Given the description of an element on the screen output the (x, y) to click on. 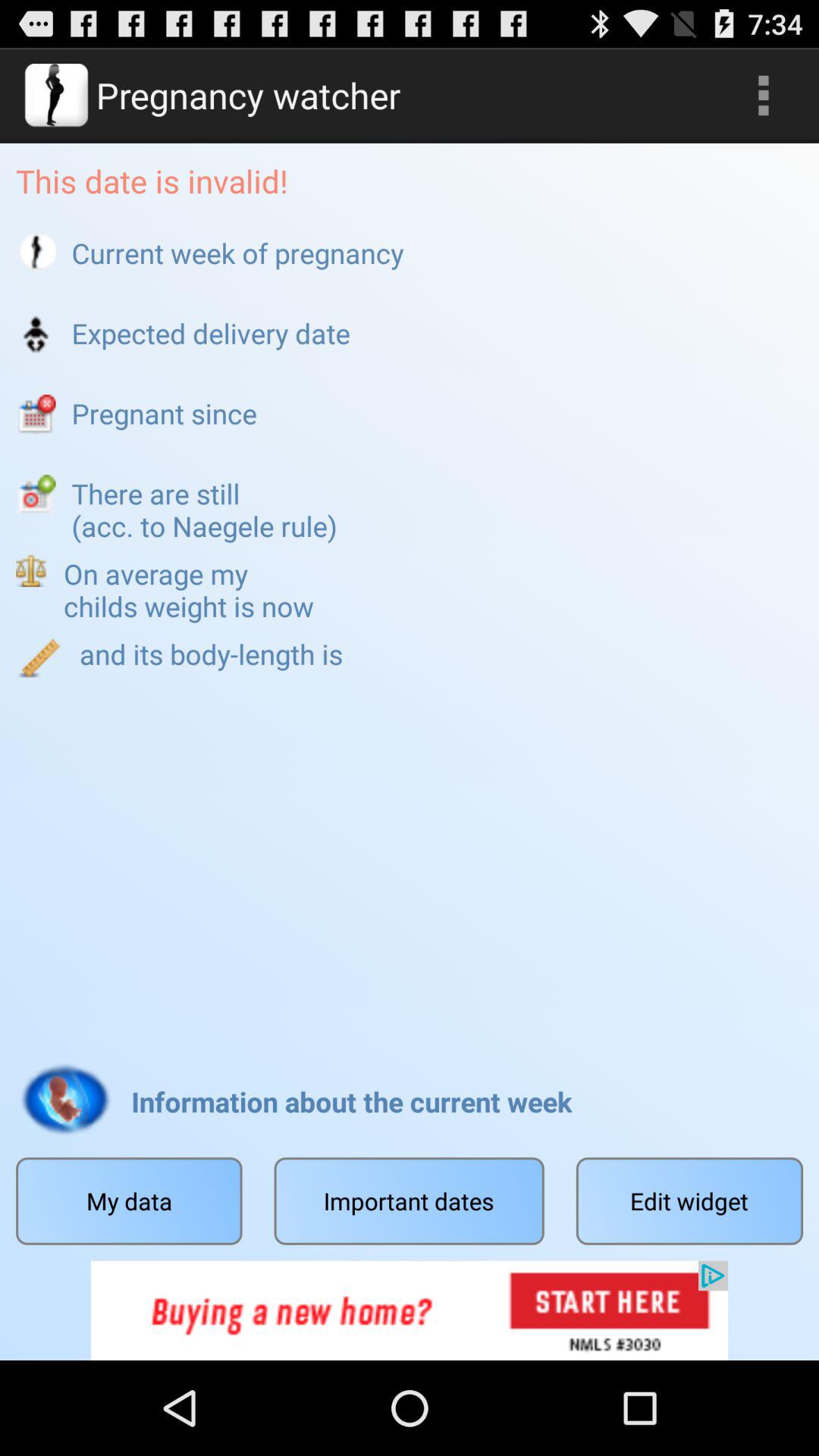
add the option (409, 1310)
